Given the description of an element on the screen output the (x, y) to click on. 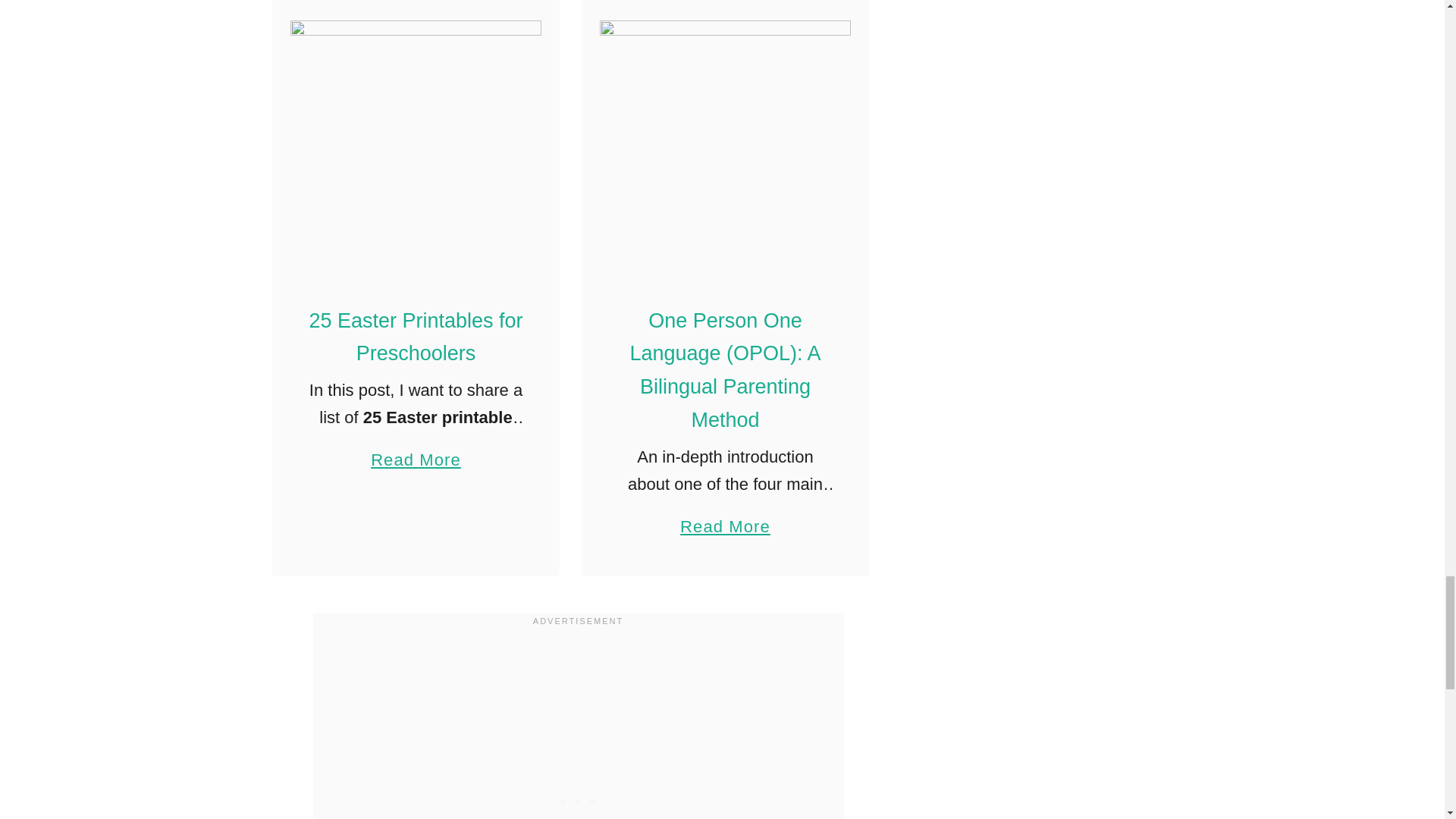
25 Easter Printables for Preschoolers (415, 142)
